Given the description of an element on the screen output the (x, y) to click on. 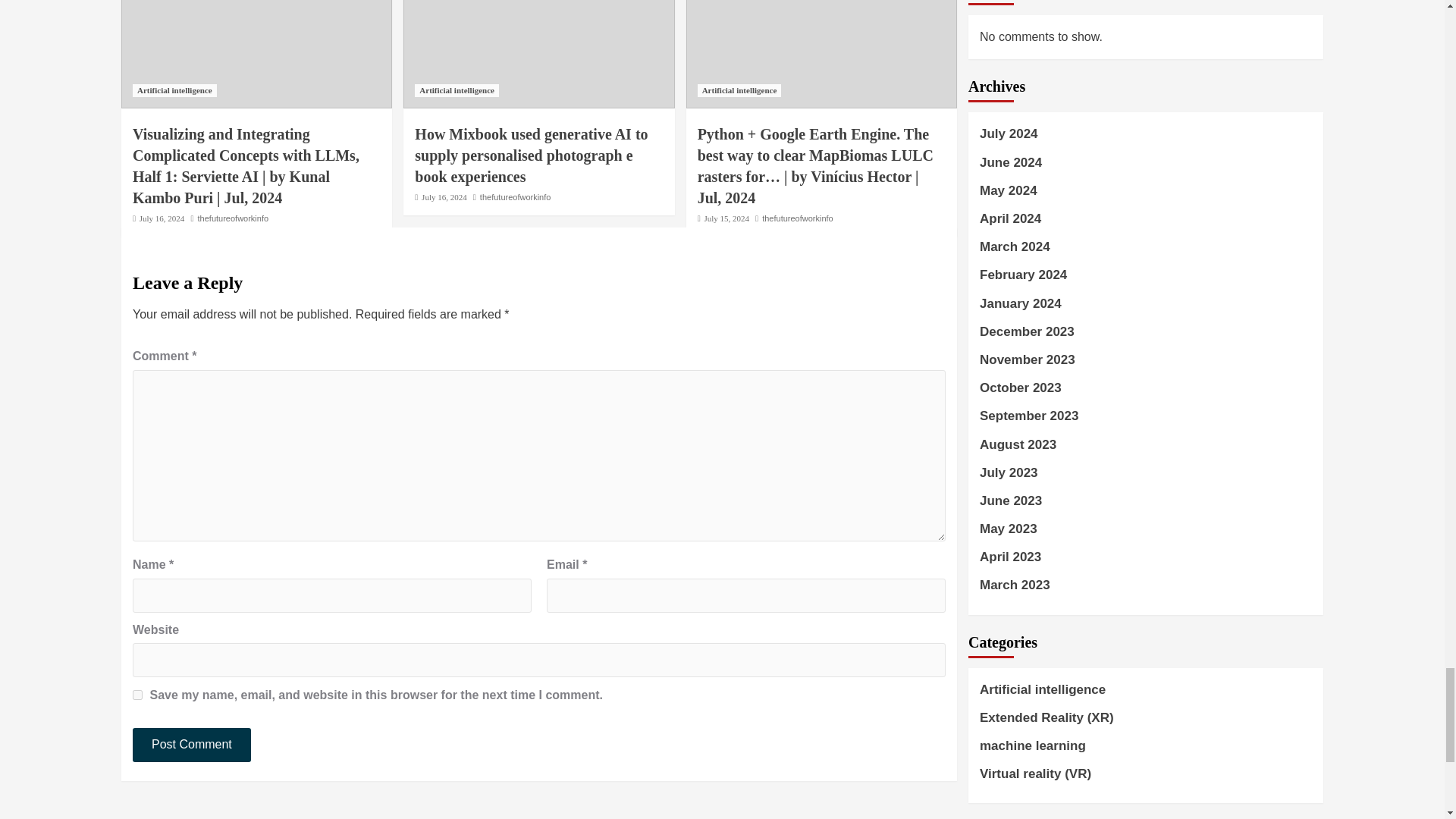
thefutureofworkinfo (233, 217)
Artificial intelligence (456, 90)
July 16, 2024 (444, 196)
Artificial intelligence (174, 90)
thefutureofworkinfo (515, 196)
July 16, 2024 (161, 217)
Post Comment (191, 745)
yes (137, 695)
